Given the description of an element on the screen output the (x, y) to click on. 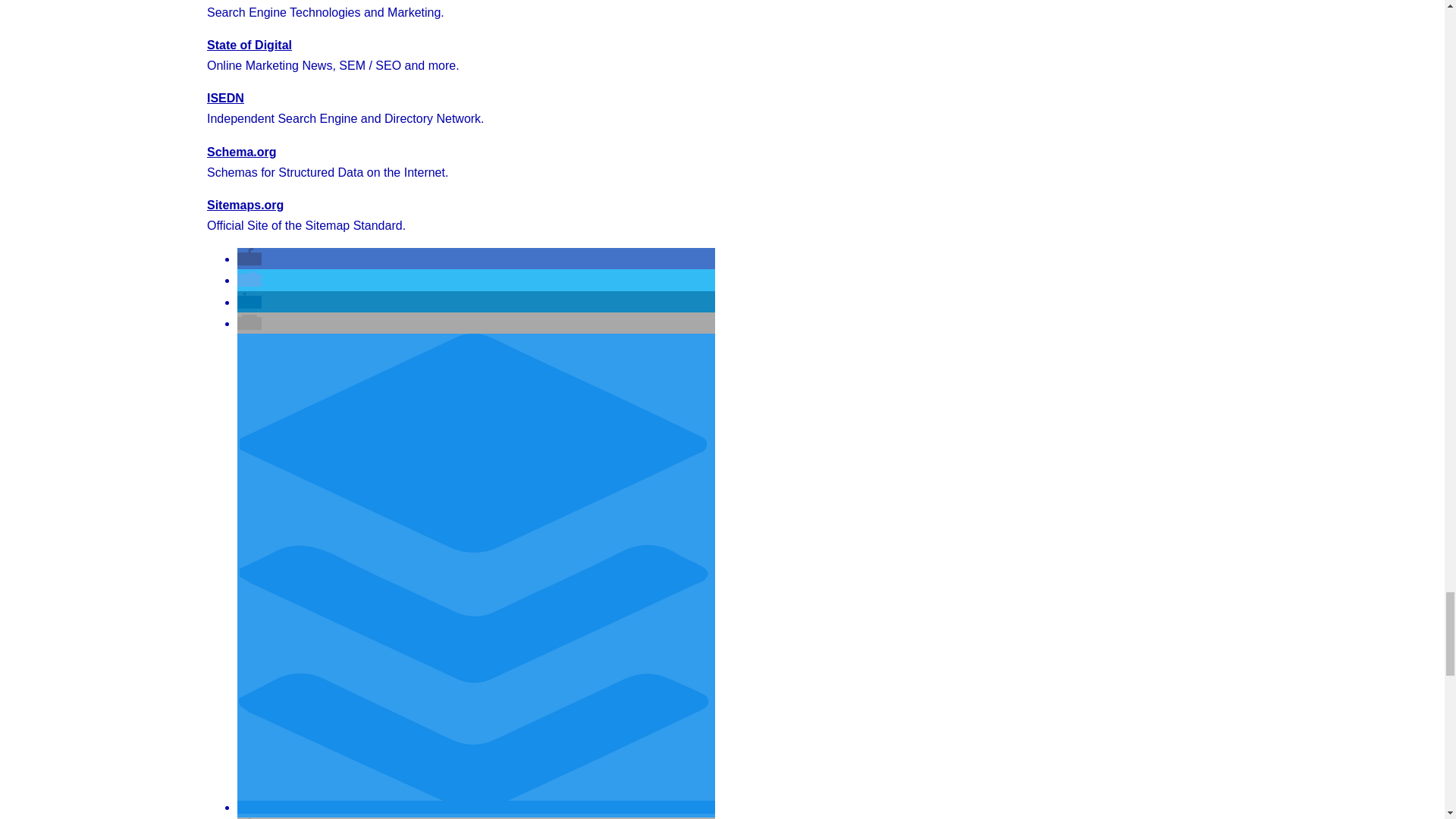
Share on Facebook (249, 258)
Share on LinkedIn (249, 301)
Share on Twitter (249, 279)
Send by email (249, 323)
Share on buffer (475, 807)
